Given the description of an element on the screen output the (x, y) to click on. 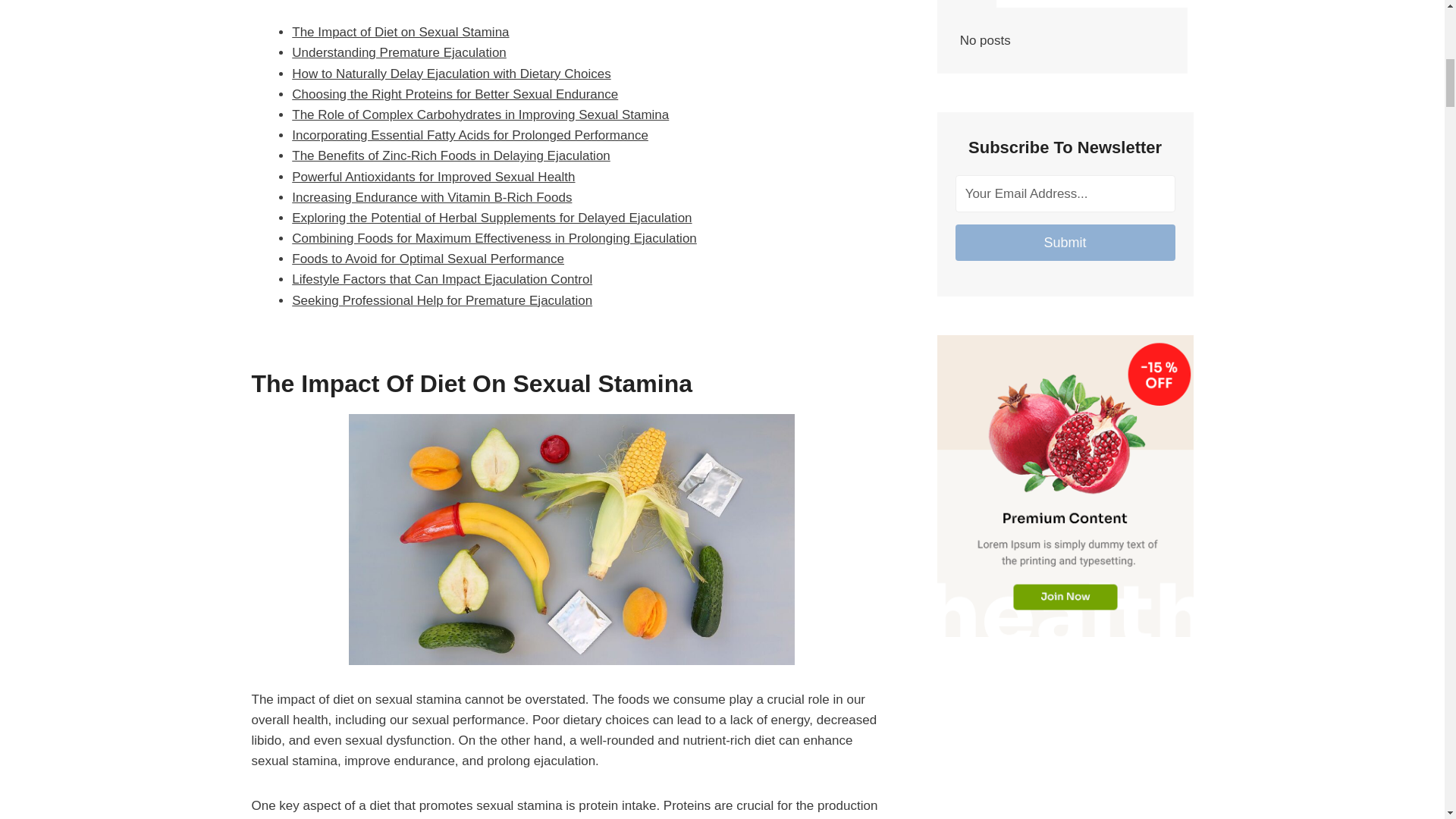
Powerful Antioxidants for Improved Sexual Health (433, 176)
Increasing Endurance with Vitamin B-Rich Foods (432, 197)
The Benefits of Zinc-Rich Foods in Delaying Ejaculation (451, 155)
The Impact of Diet on Sexual Stamina (400, 32)
Choosing the Right Proteins for Better Sexual Endurance (454, 93)
Seeking Professional Help for Premature Ejaculation (442, 300)
